Given the description of an element on the screen output the (x, y) to click on. 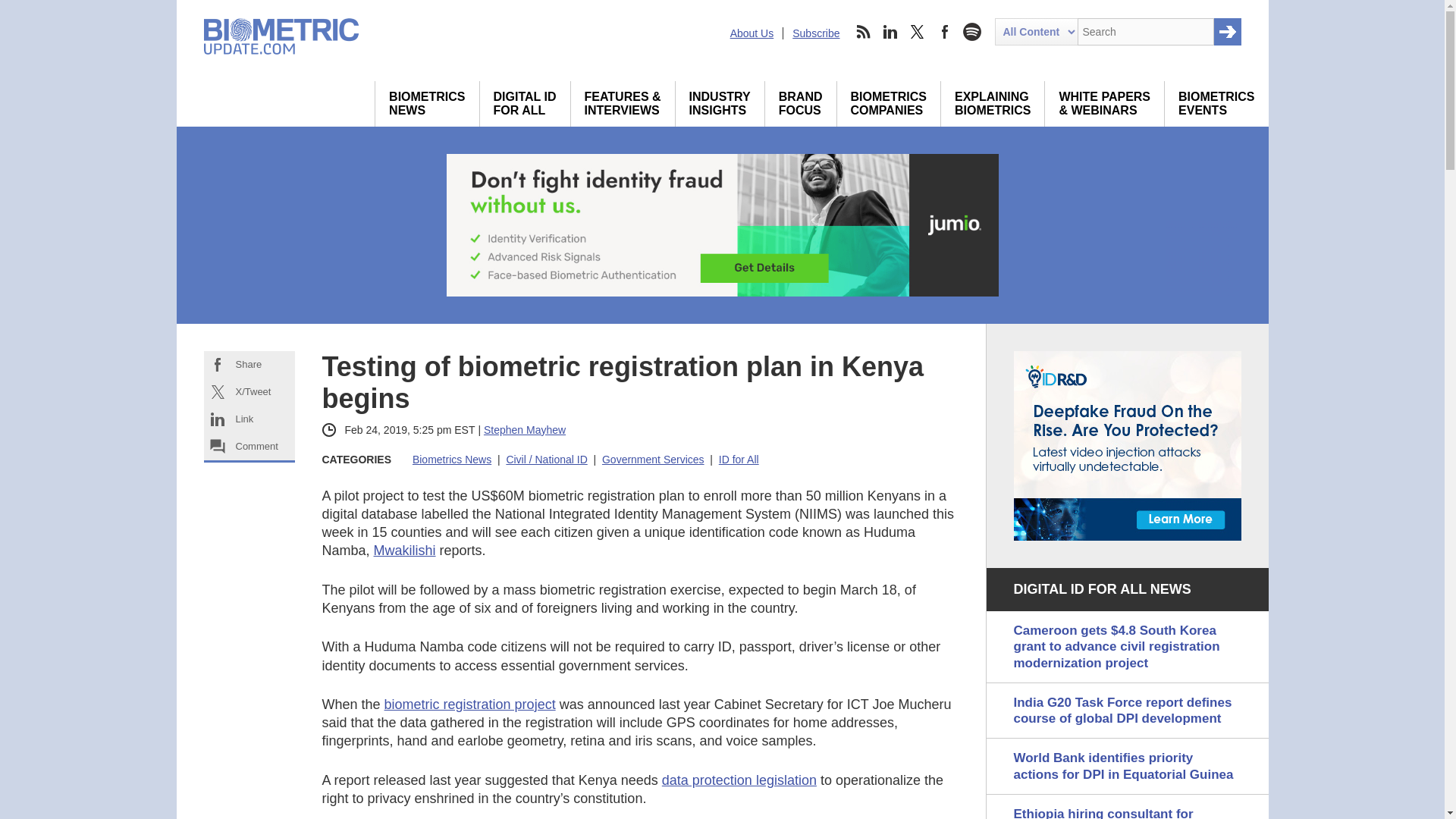
Biometrics companies, solutions and applications (888, 103)
3rd party ad content (1126, 445)
Subscribe (815, 33)
spotify (971, 31)
rss (862, 31)
facebook (944, 31)
Daily biometrics news and interviews (427, 103)
About Us (751, 33)
twitter (917, 31)
linkedin (890, 31)
Biometrics and digital ID initiatives in developing nations (525, 103)
Guest posts written by biometrics industry experts  (719, 103)
Features, interviews and special reports (427, 103)
